Given the description of an element on the screen output the (x, y) to click on. 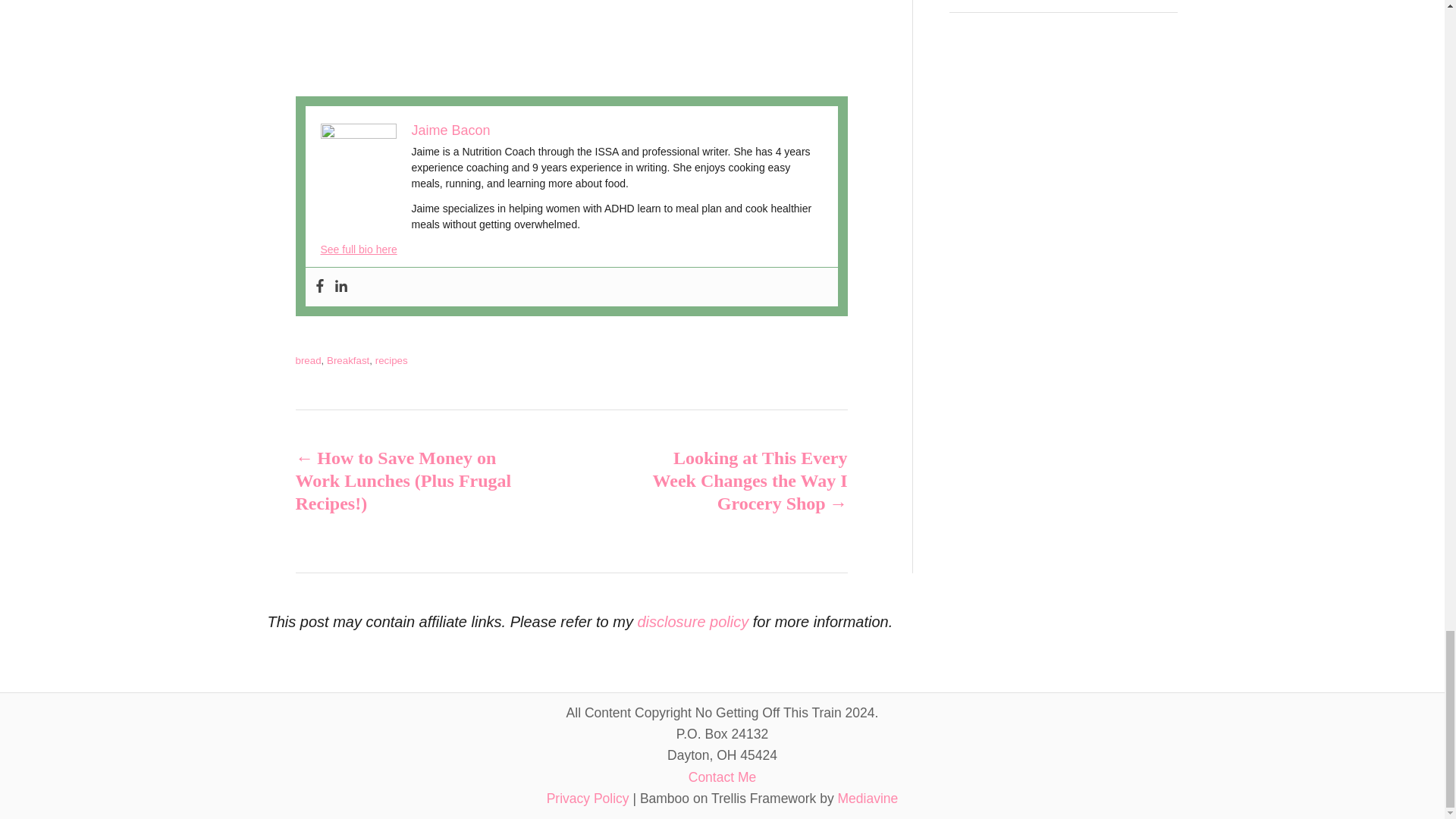
See full bio here (358, 249)
Privacy Policy (587, 798)
Looking at This Every Week Changes the Way I Grocery Shop (736, 480)
Jaime Bacon (449, 130)
Contact Me (721, 776)
bread (308, 360)
recipes (391, 360)
Mediavine (868, 798)
disclosure policy (692, 621)
Breakfast (347, 360)
